Given the description of an element on the screen output the (x, y) to click on. 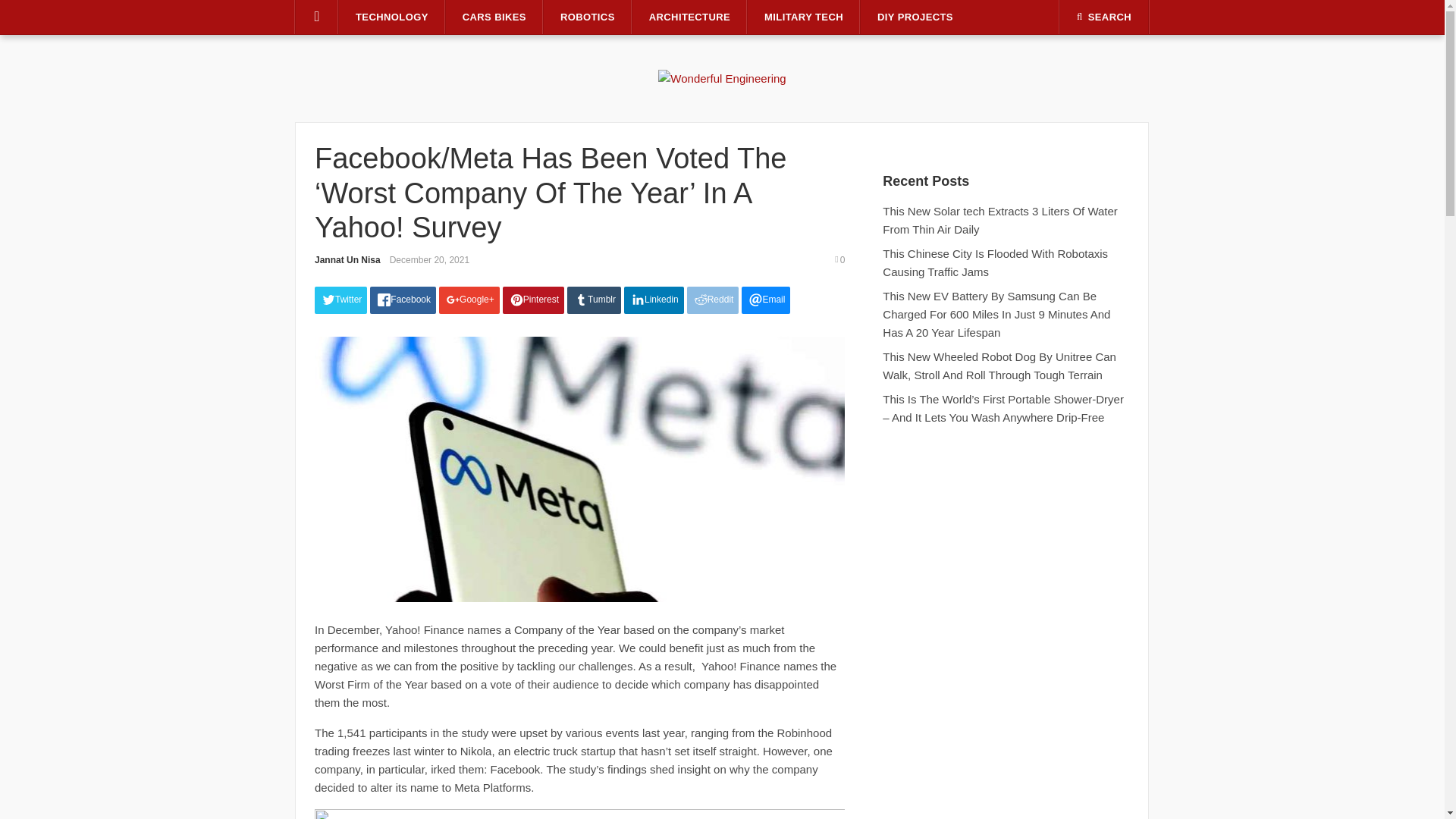
Jannat Un Nisa (347, 259)
Wonderful Engineering (722, 77)
Linkedin (654, 299)
SEARCH (1104, 16)
Pinterest (533, 299)
ROBOTICS (587, 17)
TECHNOLOGY (392, 17)
Reddit (713, 299)
Facebook (402, 299)
Twitter (340, 299)
CARS BIKES (494, 17)
ARCHITECTURE (688, 17)
Email (765, 299)
DIY PROJECTS (914, 17)
Tumblr (594, 299)
